Given the description of an element on the screen output the (x, y) to click on. 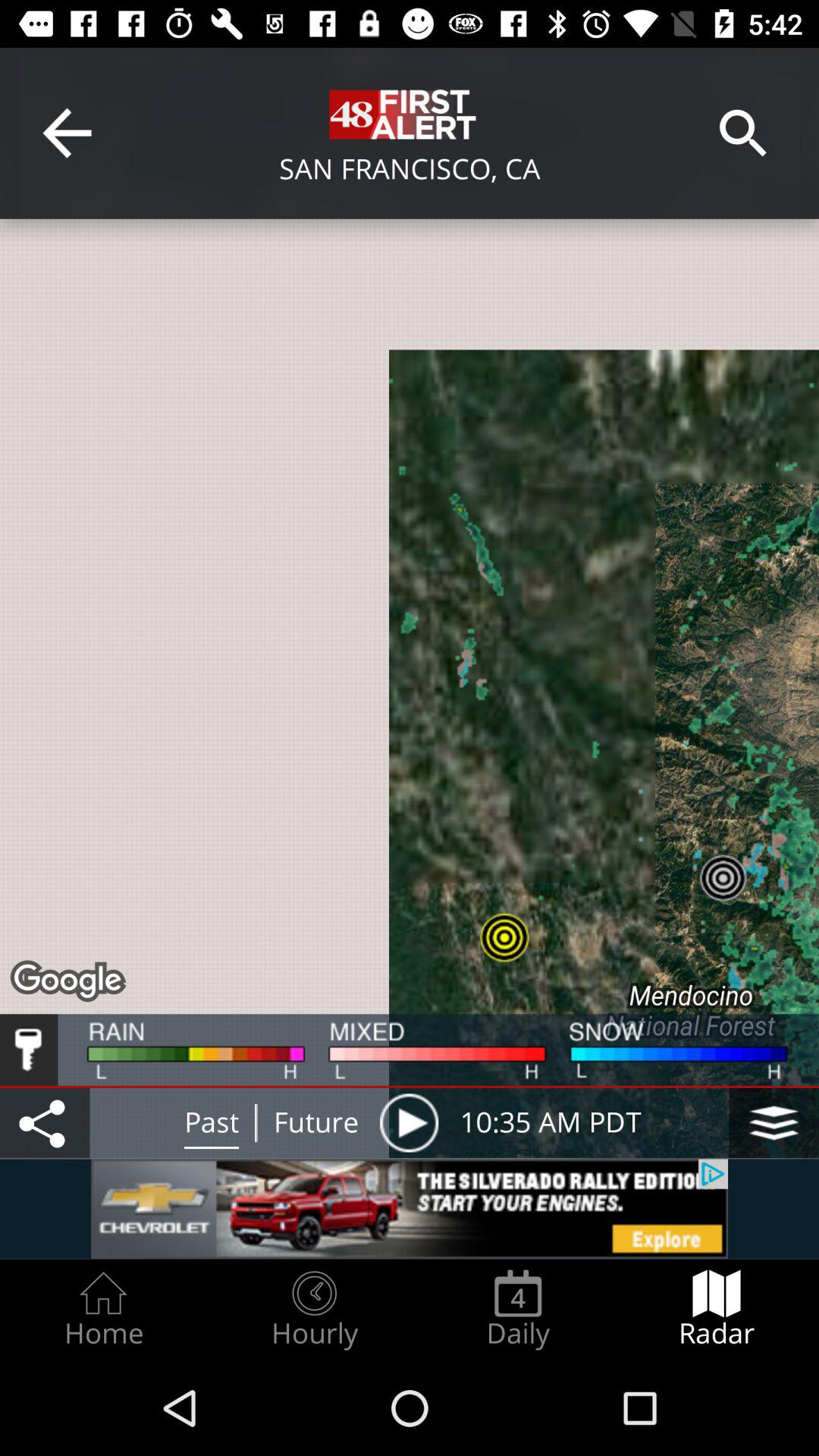
choose radio button next to daily (314, 1309)
